Given the description of an element on the screen output the (x, y) to click on. 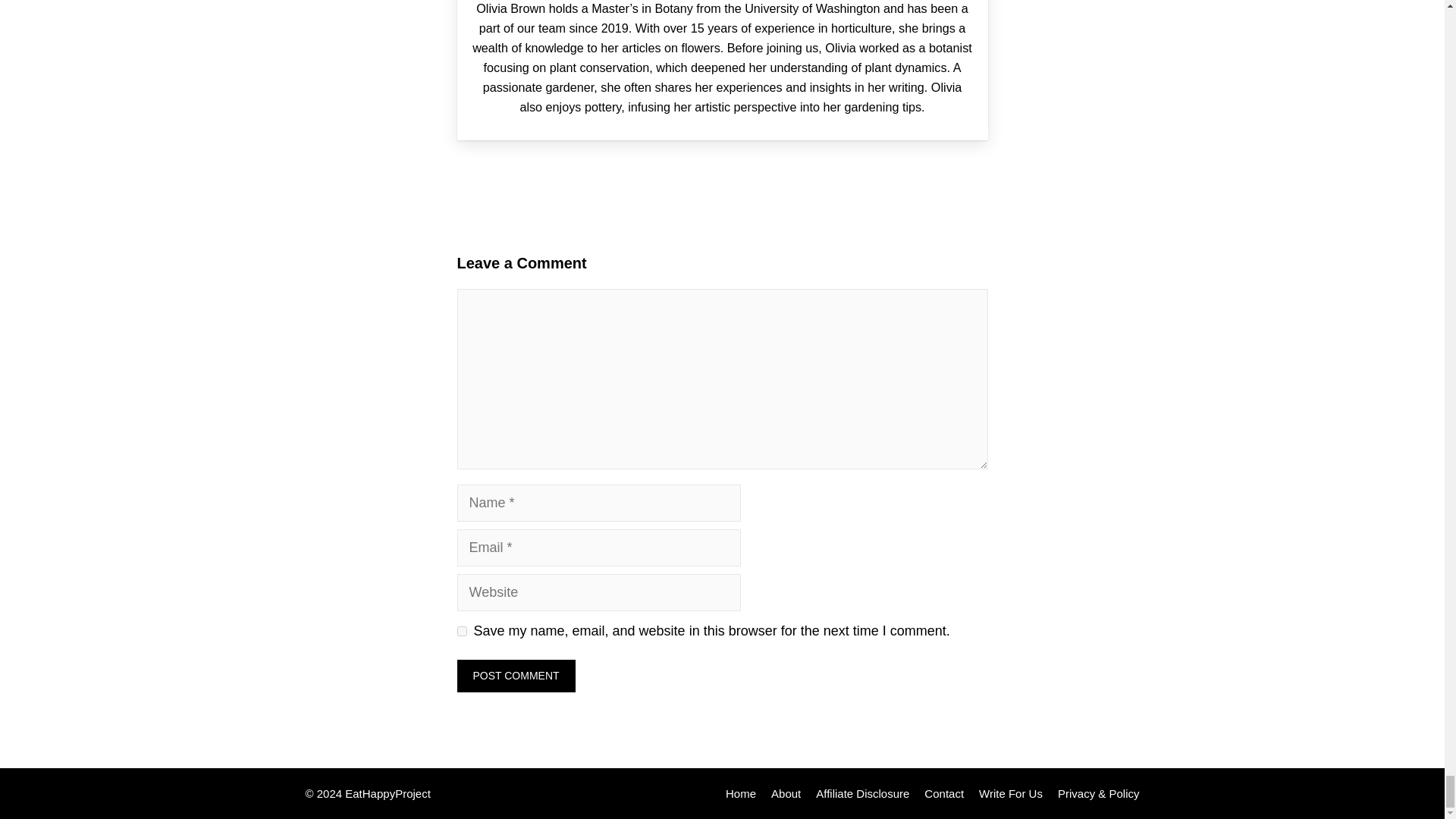
yes (461, 631)
Post Comment (516, 676)
